Given the description of an element on the screen output the (x, y) to click on. 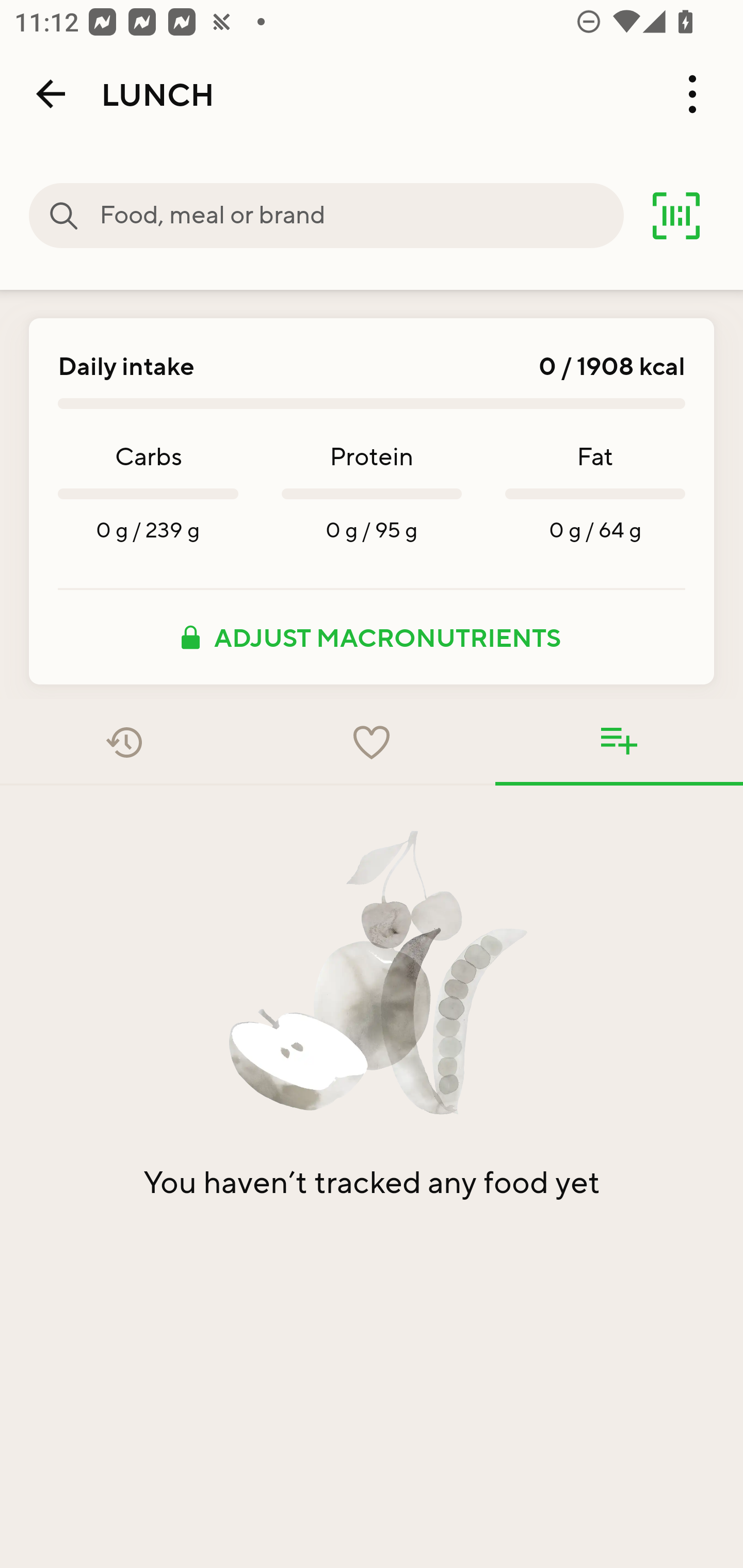
Back (50, 93)
Food, meal or brand (63, 215)
Food, meal or brand (361, 215)
ADJUST MACRONUTRIENTS (371, 637)
Recent (123, 742)
Favorites (371, 742)
